Given the description of an element on the screen output the (x, y) to click on. 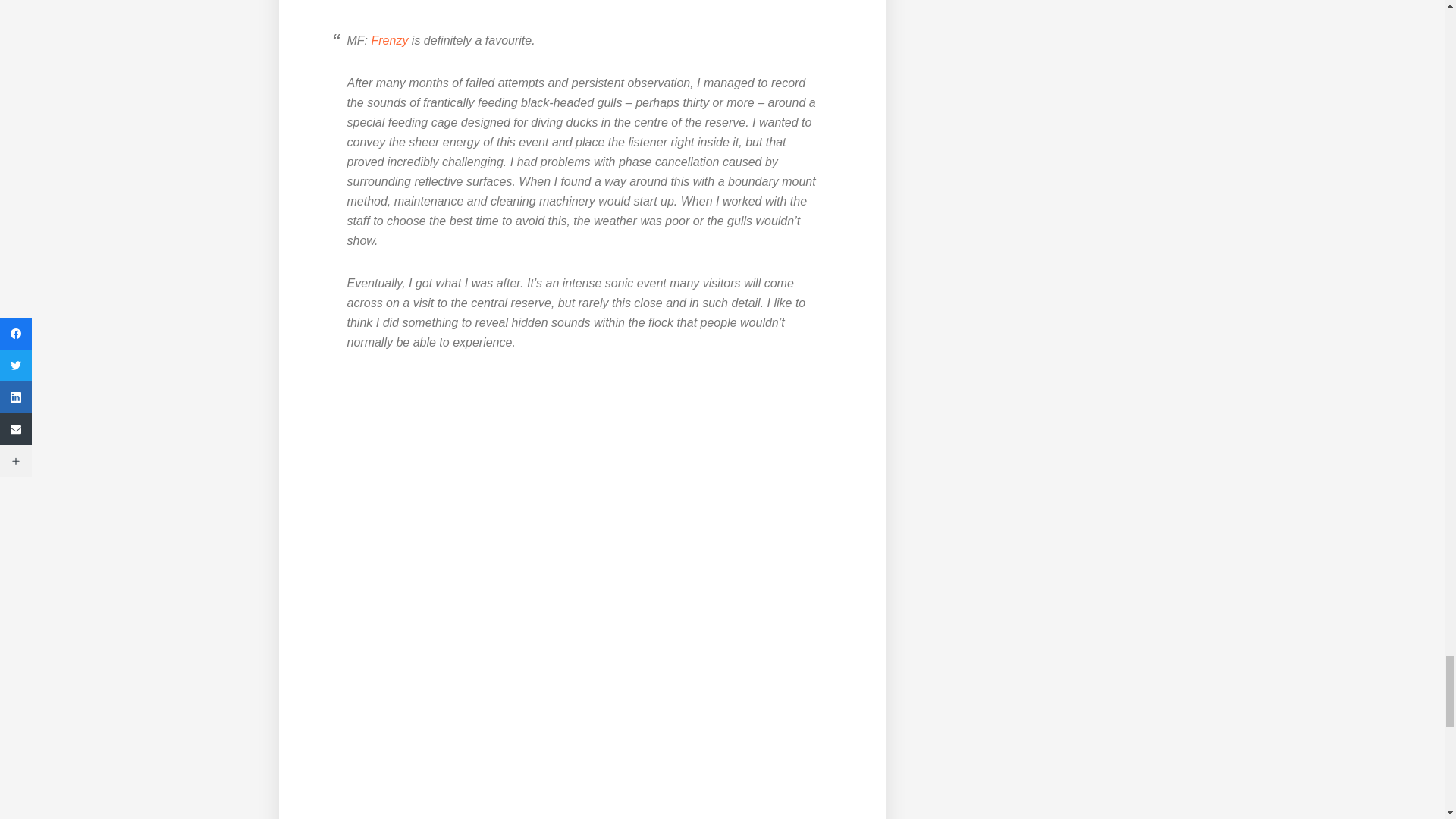
Frenzy (390, 40)
